Given the description of an element on the screen output the (x, y) to click on. 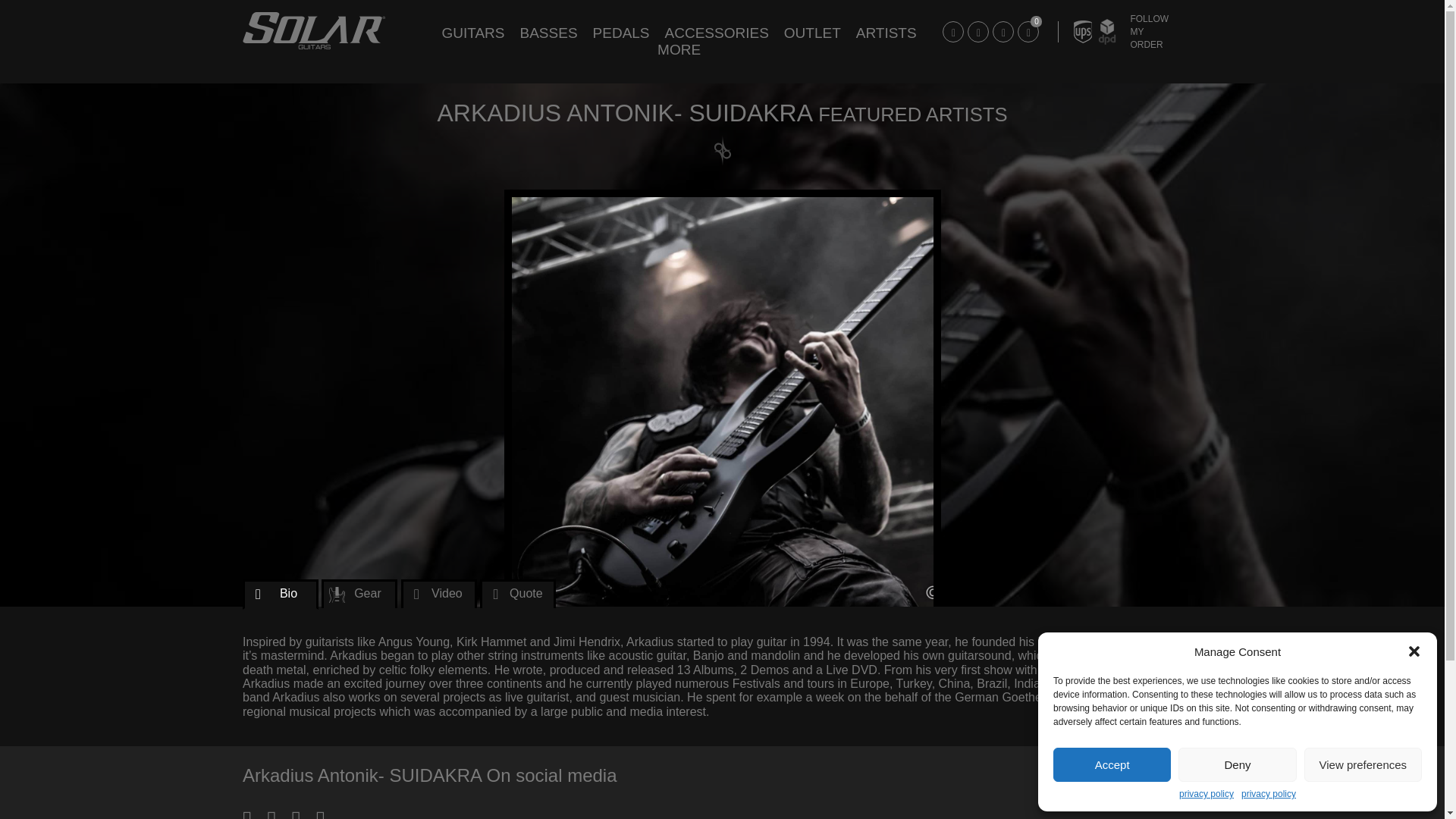
View preferences (1363, 764)
privacy policy (1268, 794)
privacy policy (1206, 794)
Deny (1236, 764)
GUITARS (472, 32)
Accept (1111, 764)
